Given the description of an element on the screen output the (x, y) to click on. 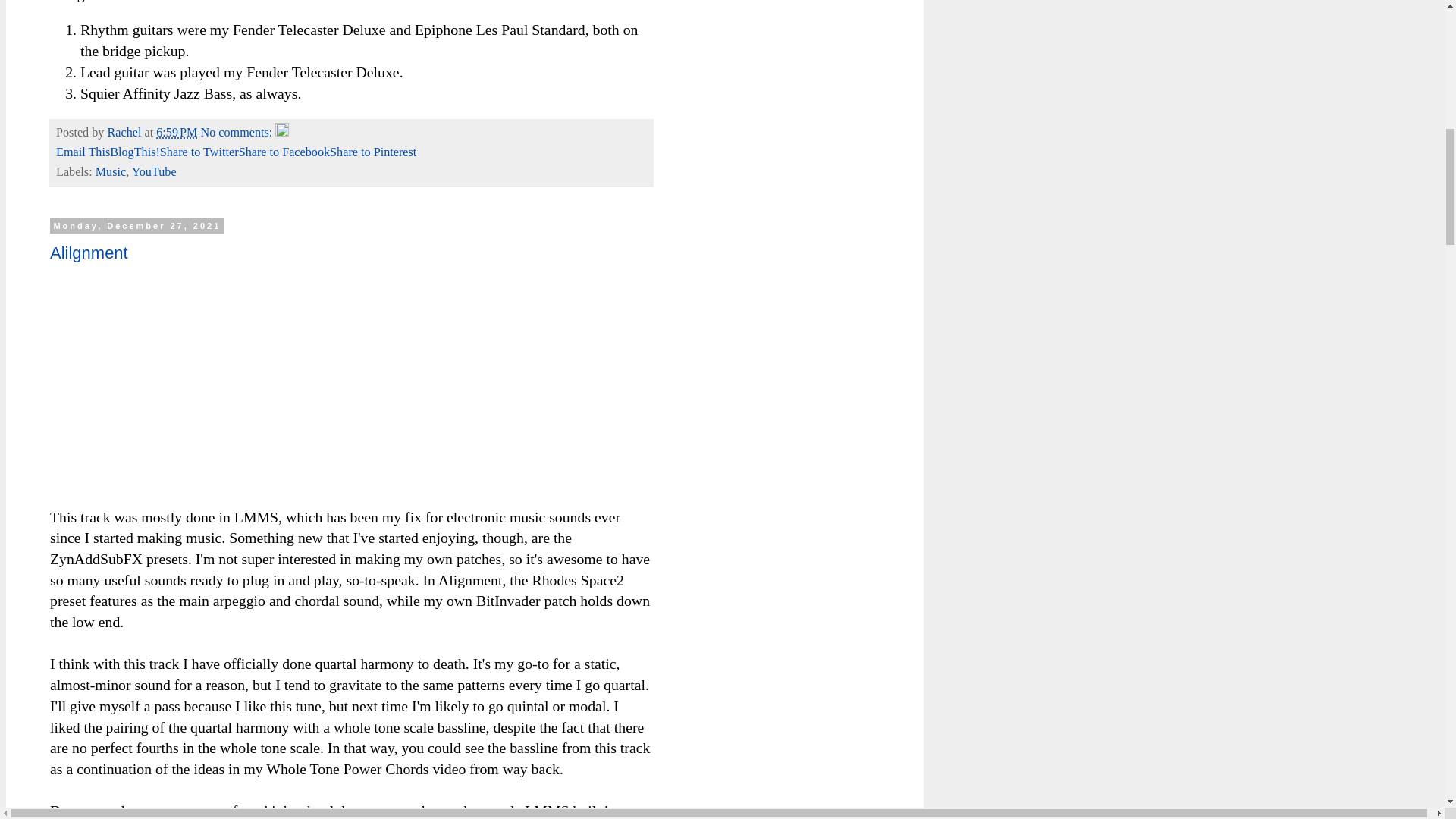
BlogThis! (135, 151)
Share to Pinterest (373, 151)
Edit Post (281, 132)
author profile (125, 132)
YouTube (154, 172)
Email This (83, 151)
Share to Facebook (284, 151)
No comments: (237, 132)
BlogThis! (135, 151)
Alilgnment (88, 252)
Share to Pinterest (373, 151)
Email This (83, 151)
Rachel (125, 132)
Share to Facebook (284, 151)
Music (110, 172)
